Given the description of an element on the screen output the (x, y) to click on. 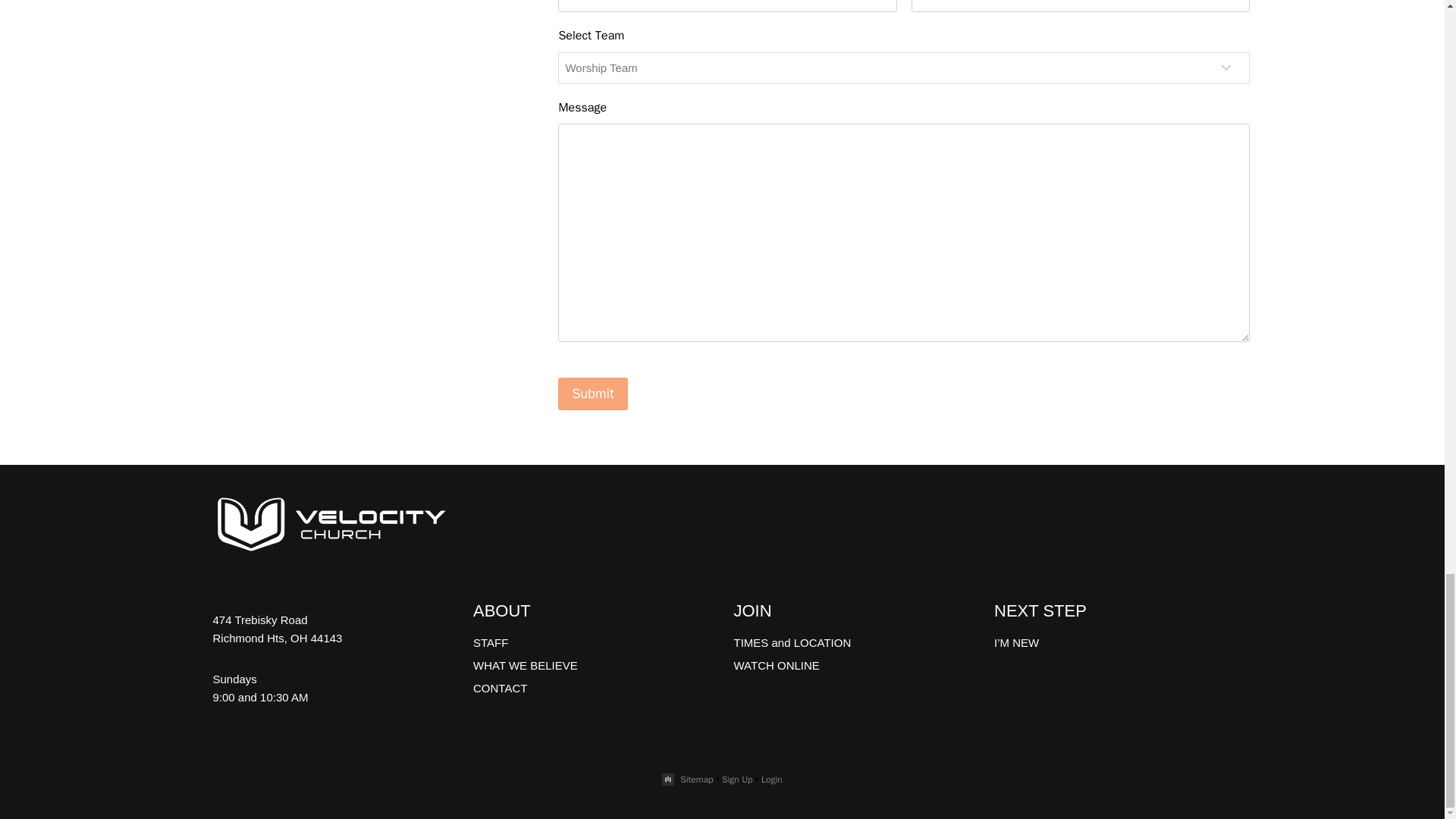
CONTACT (592, 687)
STAFF (592, 641)
WHAT WE BELIEVE (592, 664)
Submit (592, 393)
Sign Up (737, 779)
WATCH ONLINE (852, 664)
Sitemap (696, 779)
Login (772, 779)
Submit (592, 393)
TIMES and LOCATION (852, 641)
